Given the description of an element on the screen output the (x, y) to click on. 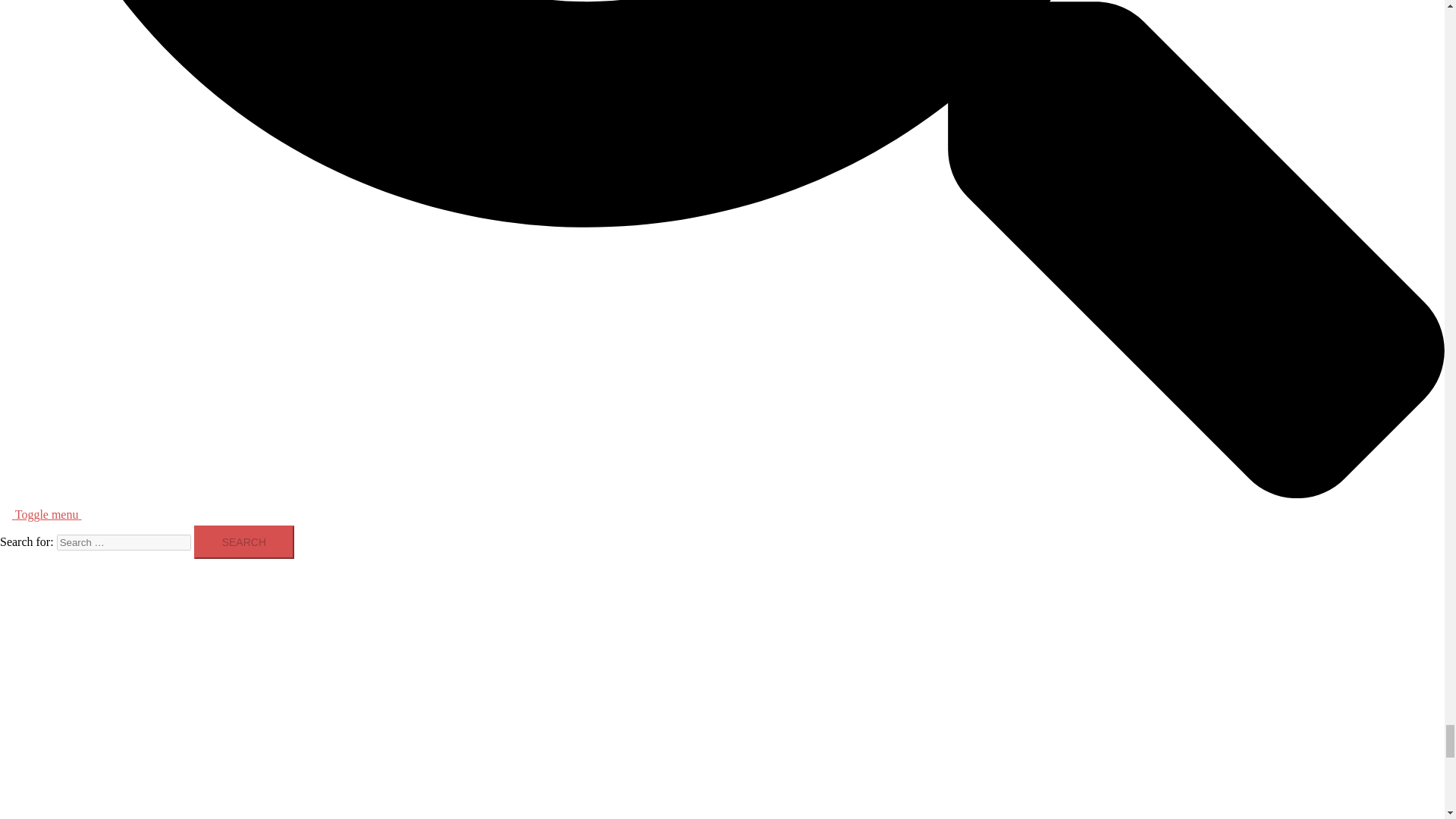
Search (243, 541)
Search (243, 541)
